Given the description of an element on the screen output the (x, y) to click on. 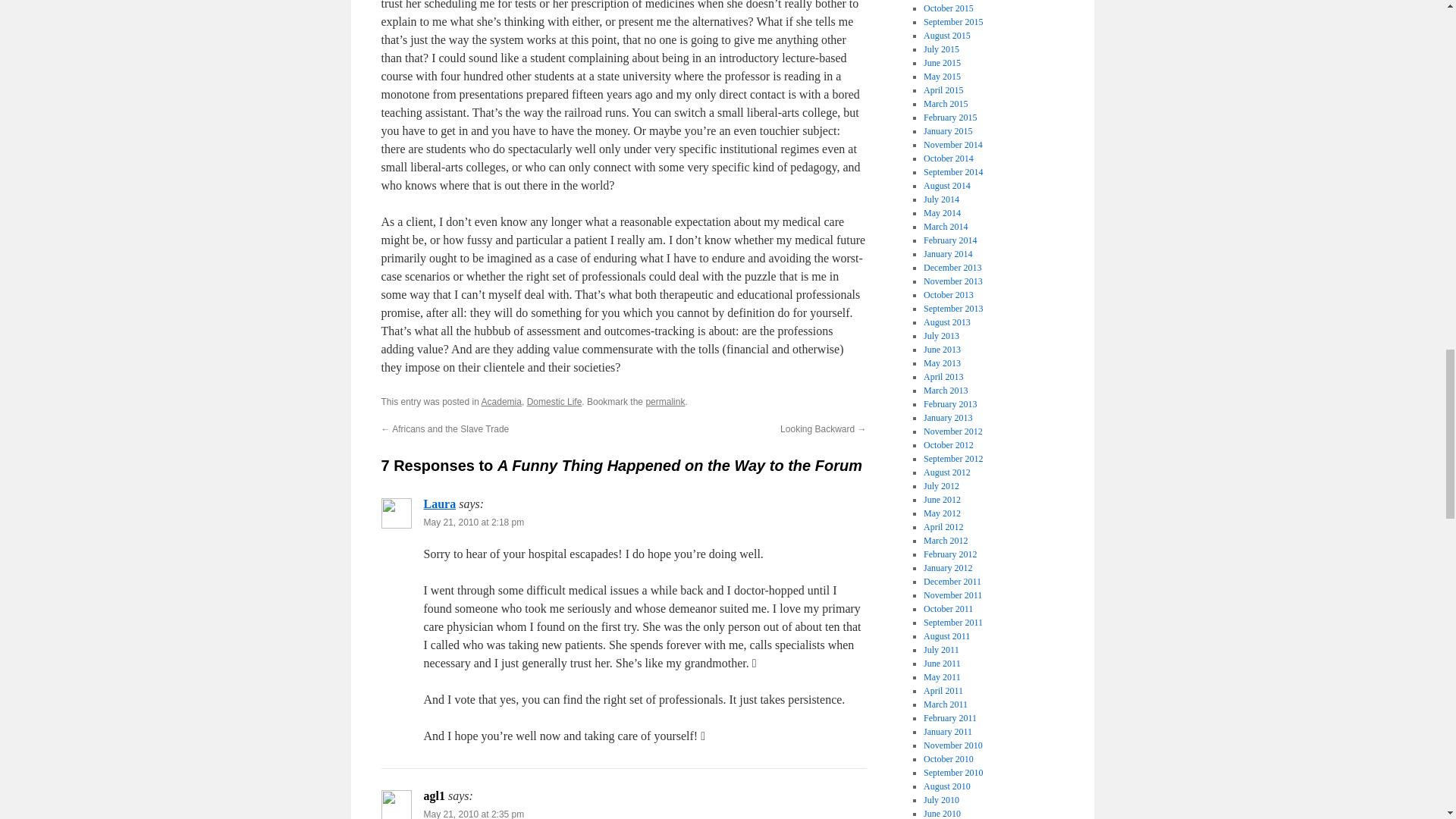
permalink (664, 401)
Permalink to A Funny Thing Happened on the Way to the Forum (664, 401)
May 21, 2010 at 2:35 pm (473, 814)
May 21, 2010 at 2:18 pm (473, 521)
Academia (501, 401)
Laura (439, 503)
Domestic Life (554, 401)
